Given the description of an element on the screen output the (x, y) to click on. 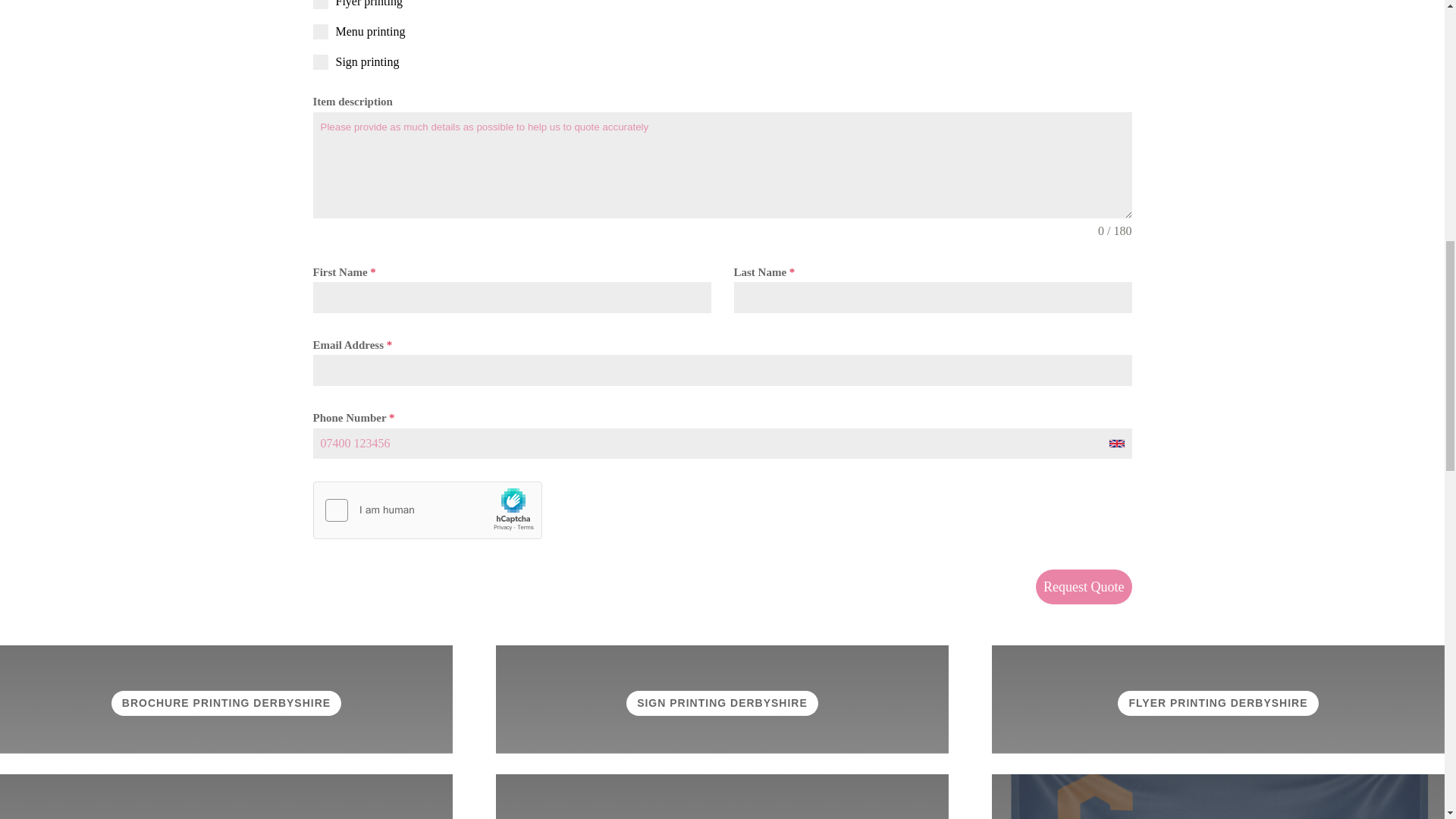
Request Quote (1083, 586)
Menu printing (722, 31)
BROCHURE PRINTING DERBYSHIRE (226, 702)
Sign printing (722, 61)
Widget containing checkbox for hCaptcha security challenge (427, 510)
FLYER PRINTING DERBYSHIRE (1217, 702)
SIGN PRINTING DERBYSHIRE (722, 702)
